Given the description of an element on the screen output the (x, y) to click on. 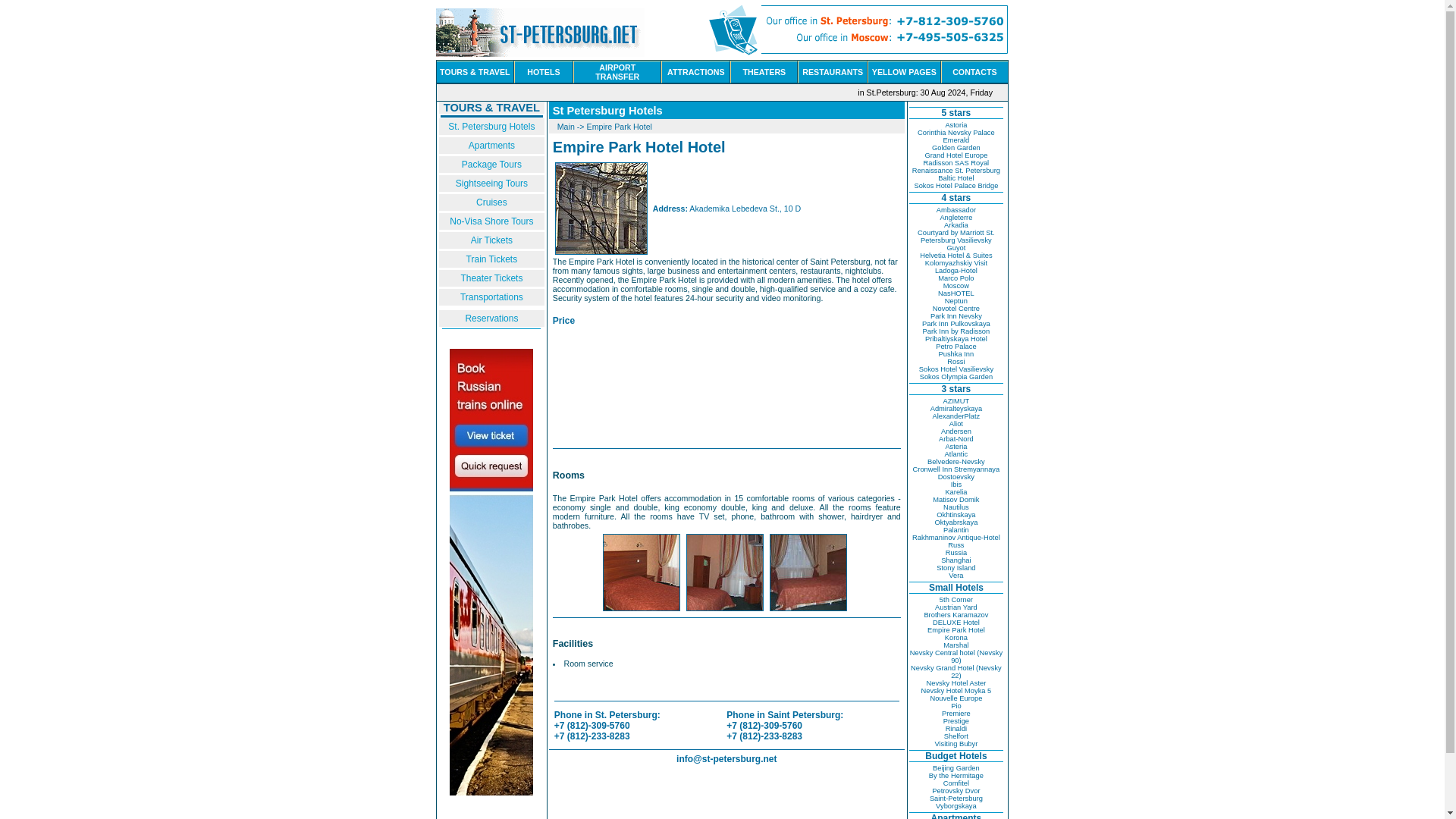
THEATERS (764, 71)
AIRPORT TRANSFER (617, 72)
CONTACTS (973, 71)
RESTAURANTS (832, 71)
Transportations (491, 296)
HOTELS (543, 71)
Theater Tickets (491, 277)
5 stars (956, 112)
Golden Garden (955, 147)
Kolomyazhskiy Visit (955, 262)
